Given the description of an element on the screen output the (x, y) to click on. 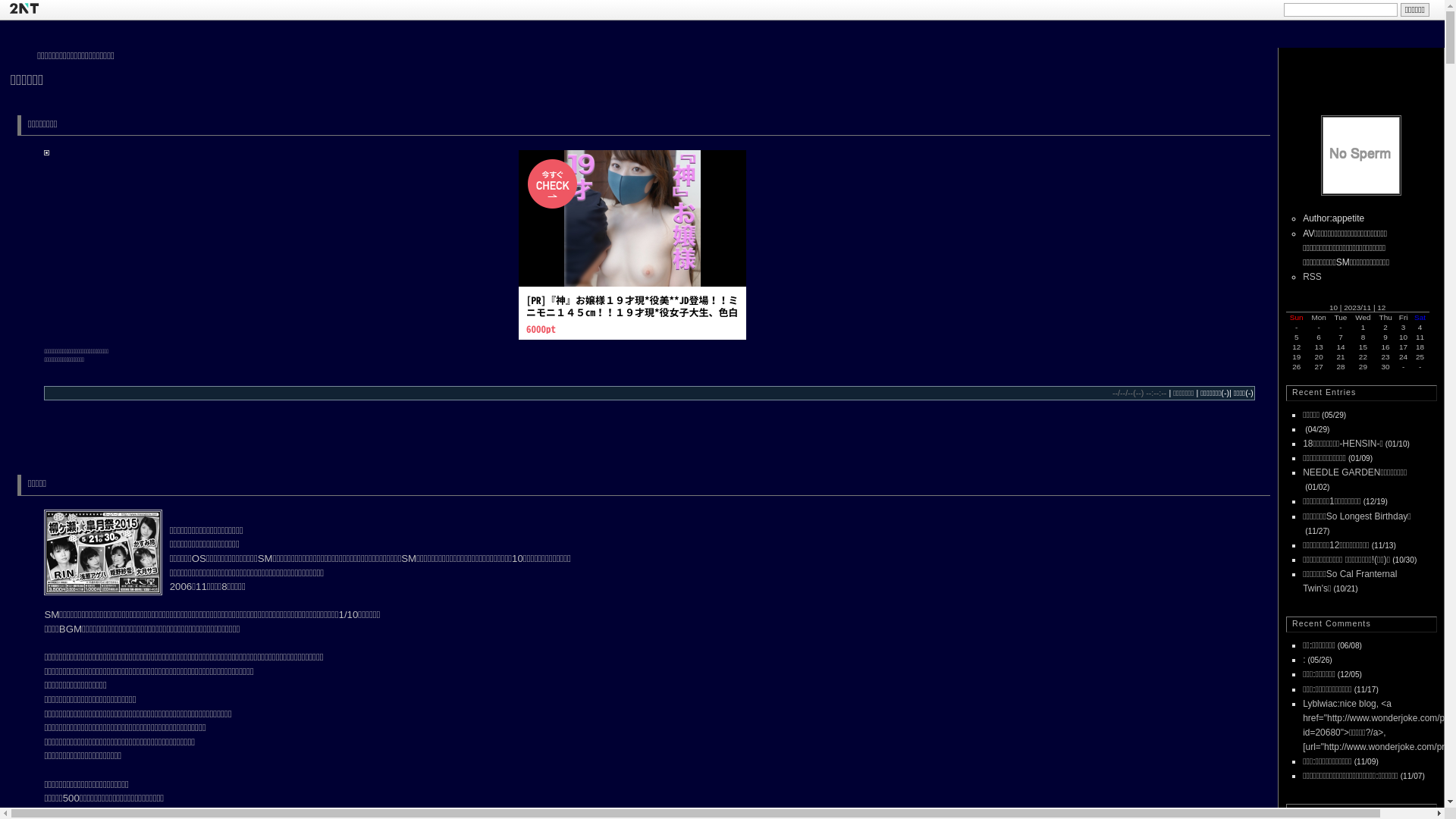
RSS Element type: text (1311, 276)
: Element type: text (1303, 659)
10 Element type: text (1333, 307)
--/--/--(--) --:--:-- Element type: text (1139, 392)
12 Element type: text (1381, 307)
